Given the description of an element on the screen output the (x, y) to click on. 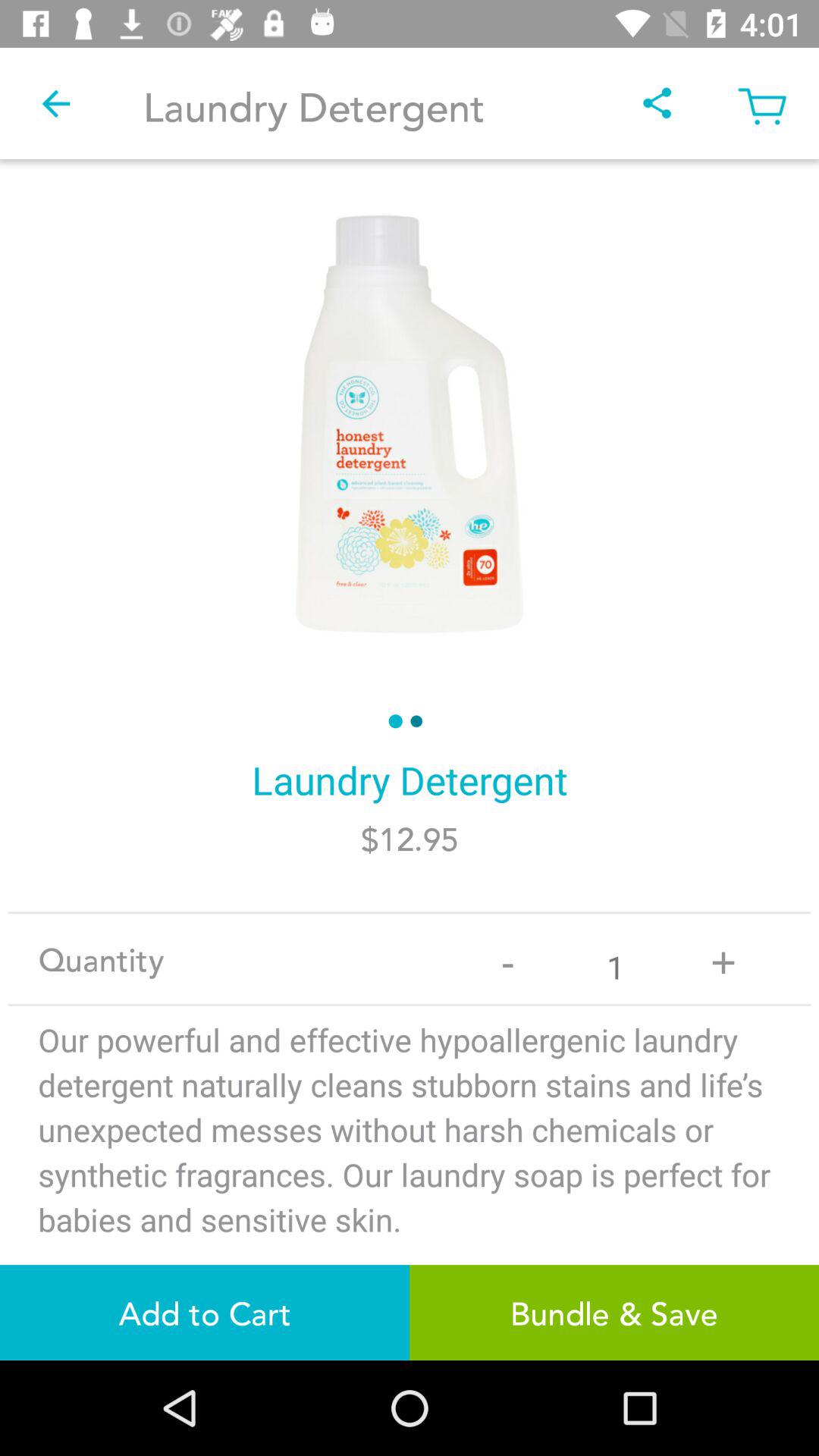
jump to add to cart item (204, 1312)
